Given the description of an element on the screen output the (x, y) to click on. 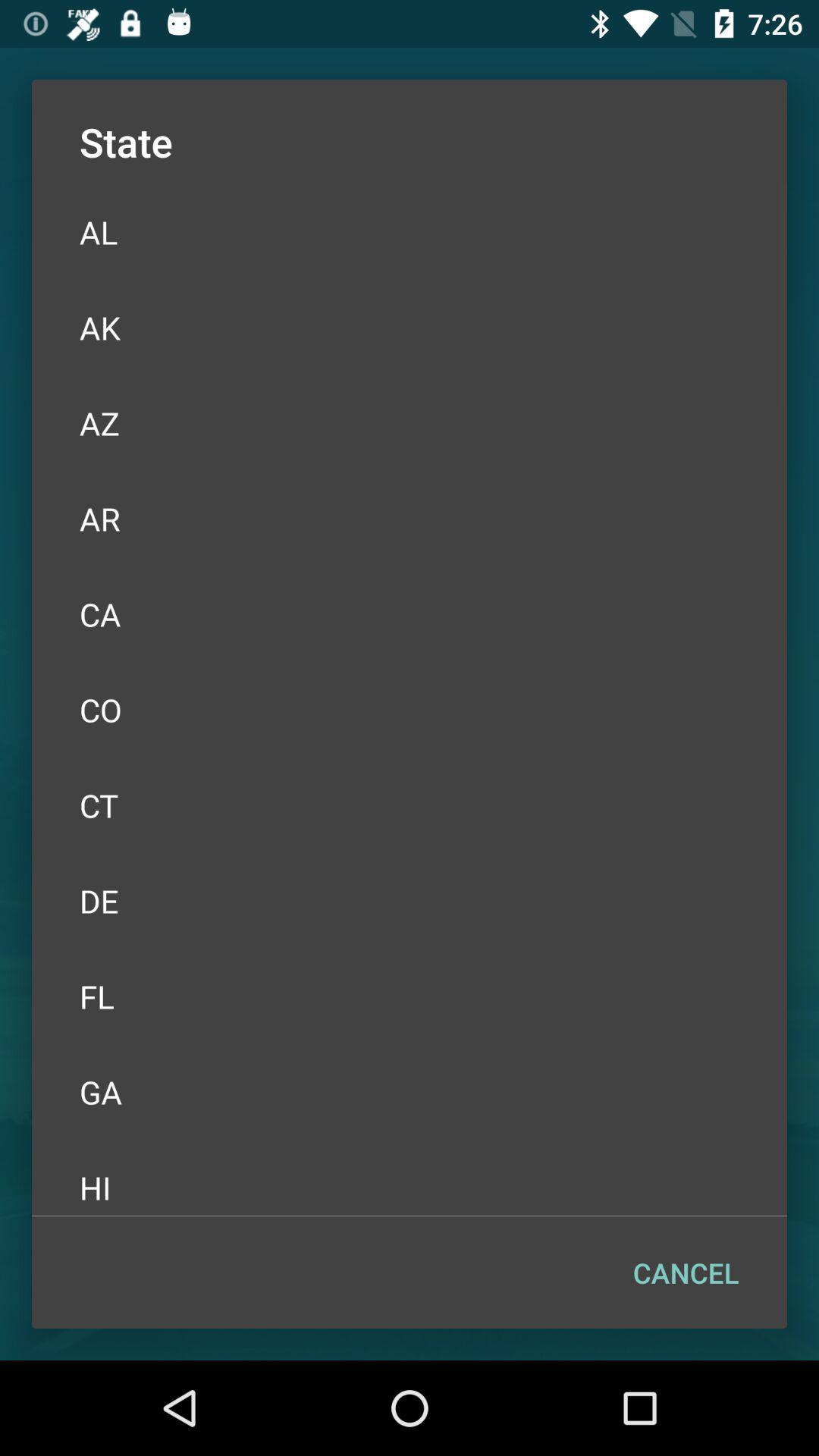
jump to de item (409, 900)
